Given the description of an element on the screen output the (x, y) to click on. 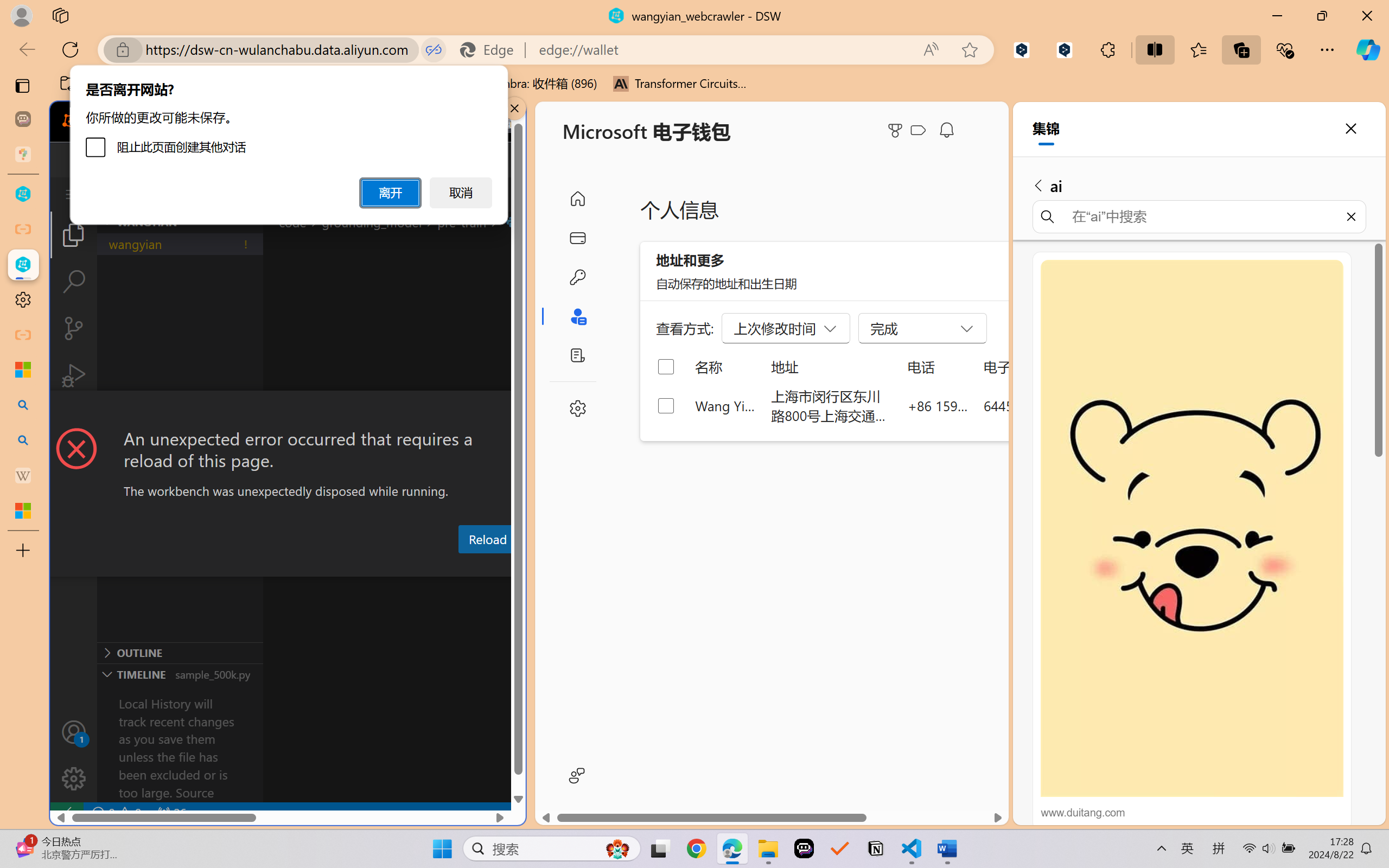
Debug Console (Ctrl+Shift+Y) (463, 565)
Extensions (Ctrl+Shift+X) (73, 422)
Outline Section (179, 652)
Wang Yian (725, 405)
Google Chrome (696, 848)
